Given the description of an element on the screen output the (x, y) to click on. 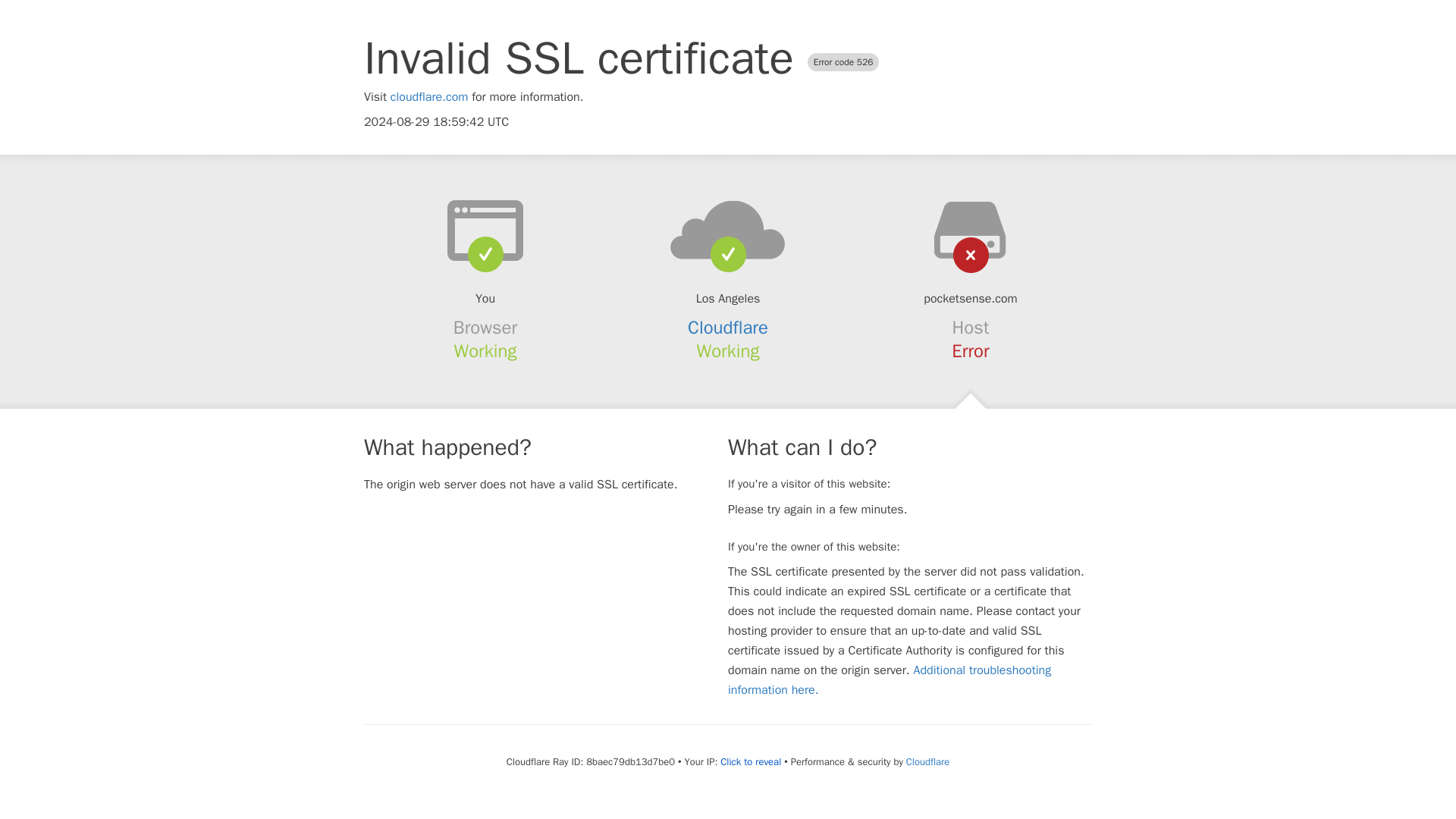
cloudflare.com (429, 96)
Additional troubleshooting information here. (889, 679)
Click to reveal (750, 762)
Cloudflare (927, 761)
Cloudflare (727, 327)
